Given the description of an element on the screen output the (x, y) to click on. 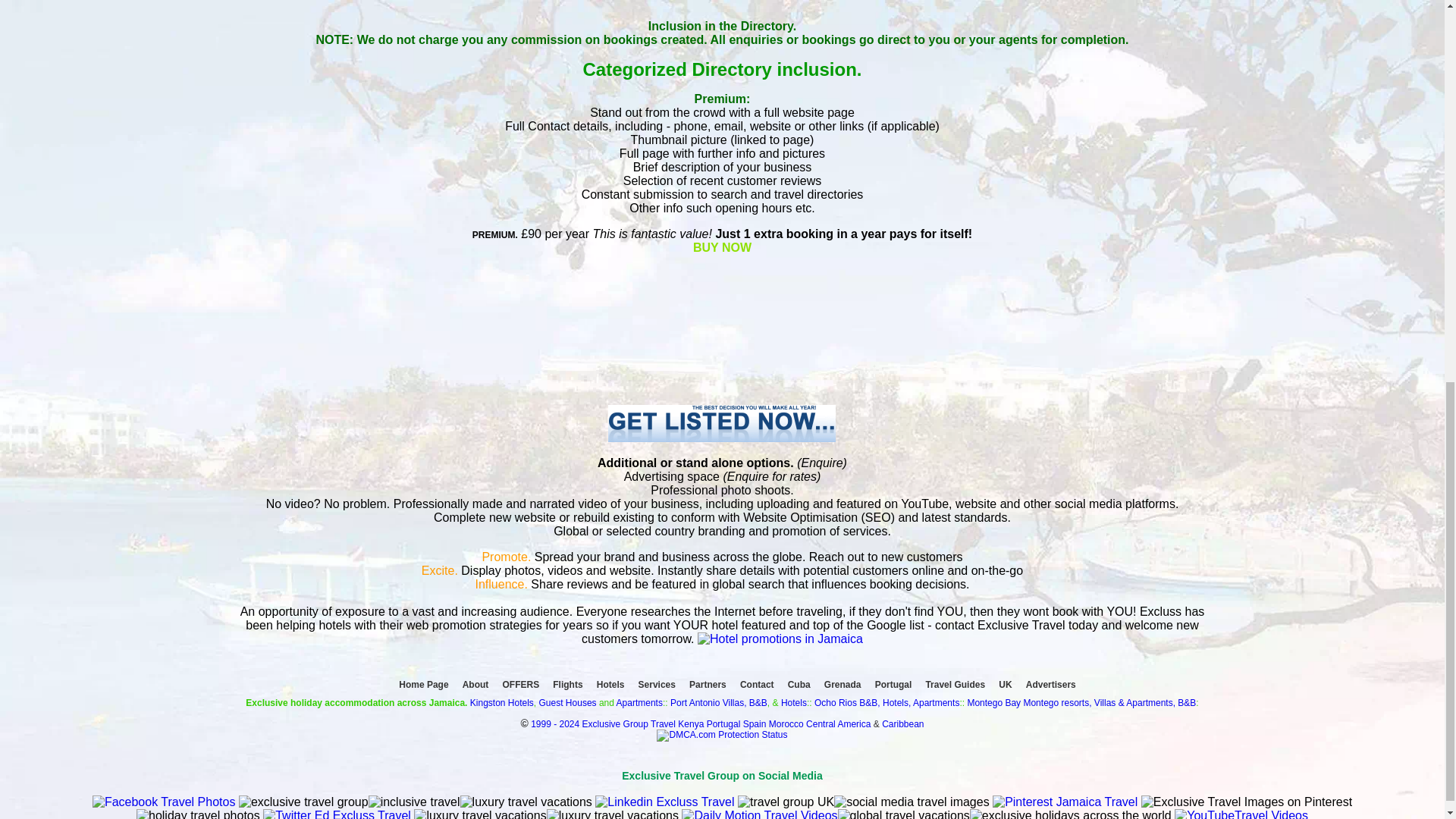
Contact Exclusive Travel Group (721, 438)
Services (656, 684)
Contact Exclusive Travel Group (780, 638)
PayPal (721, 329)
OFFERS (520, 684)
Grenada (841, 684)
Home Page (423, 684)
UK (1005, 684)
Kingston (487, 702)
Cuba (799, 684)
